Given the description of an element on the screen output the (x, y) to click on. 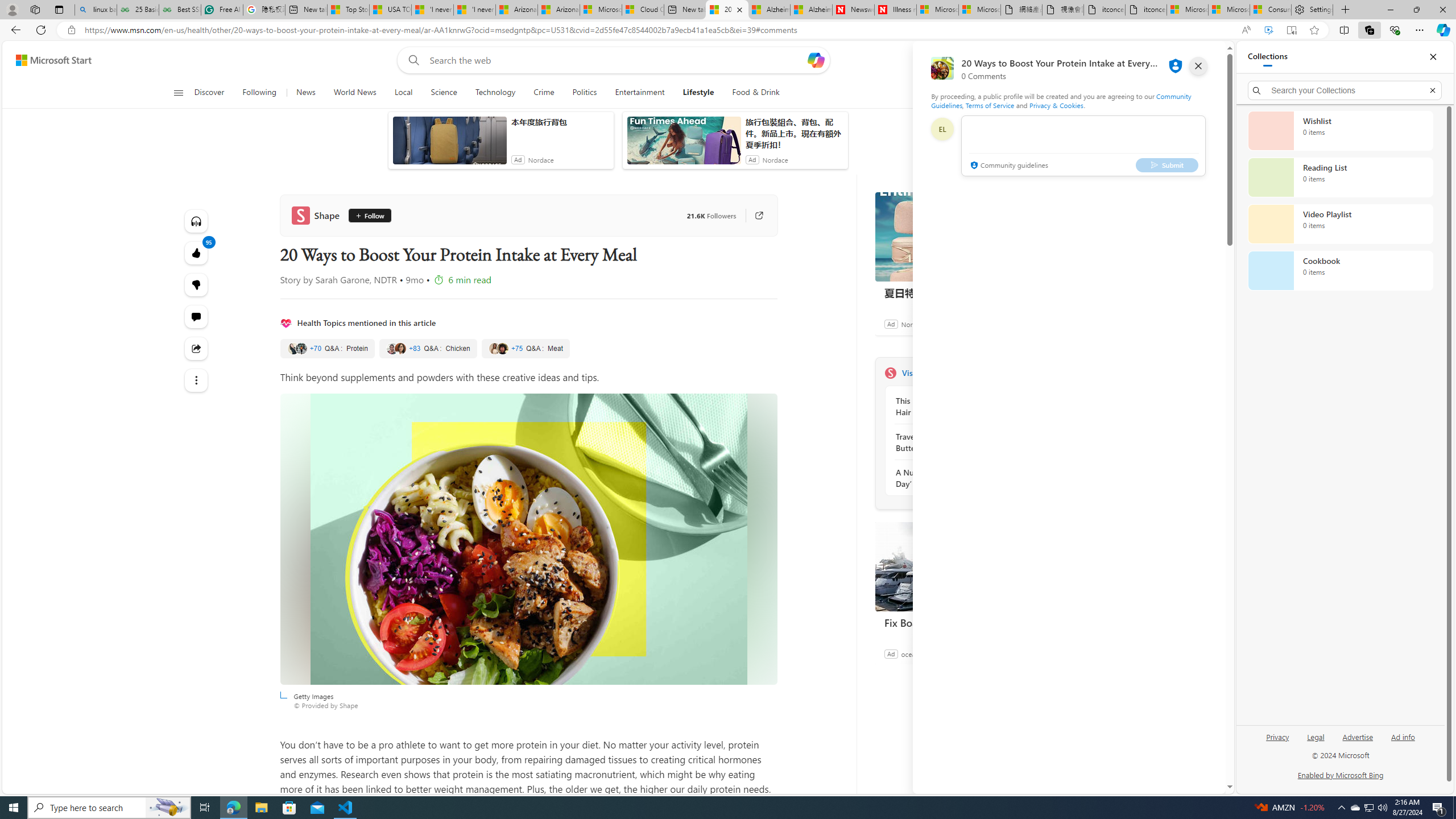
Illness news & latest pictures from Newsweek.com (895, 9)
Class: at-item (196, 380)
Enter your search term (617, 59)
Meat (524, 348)
oceanbluemarine (927, 653)
